Given the description of an element on the screen output the (x, y) to click on. 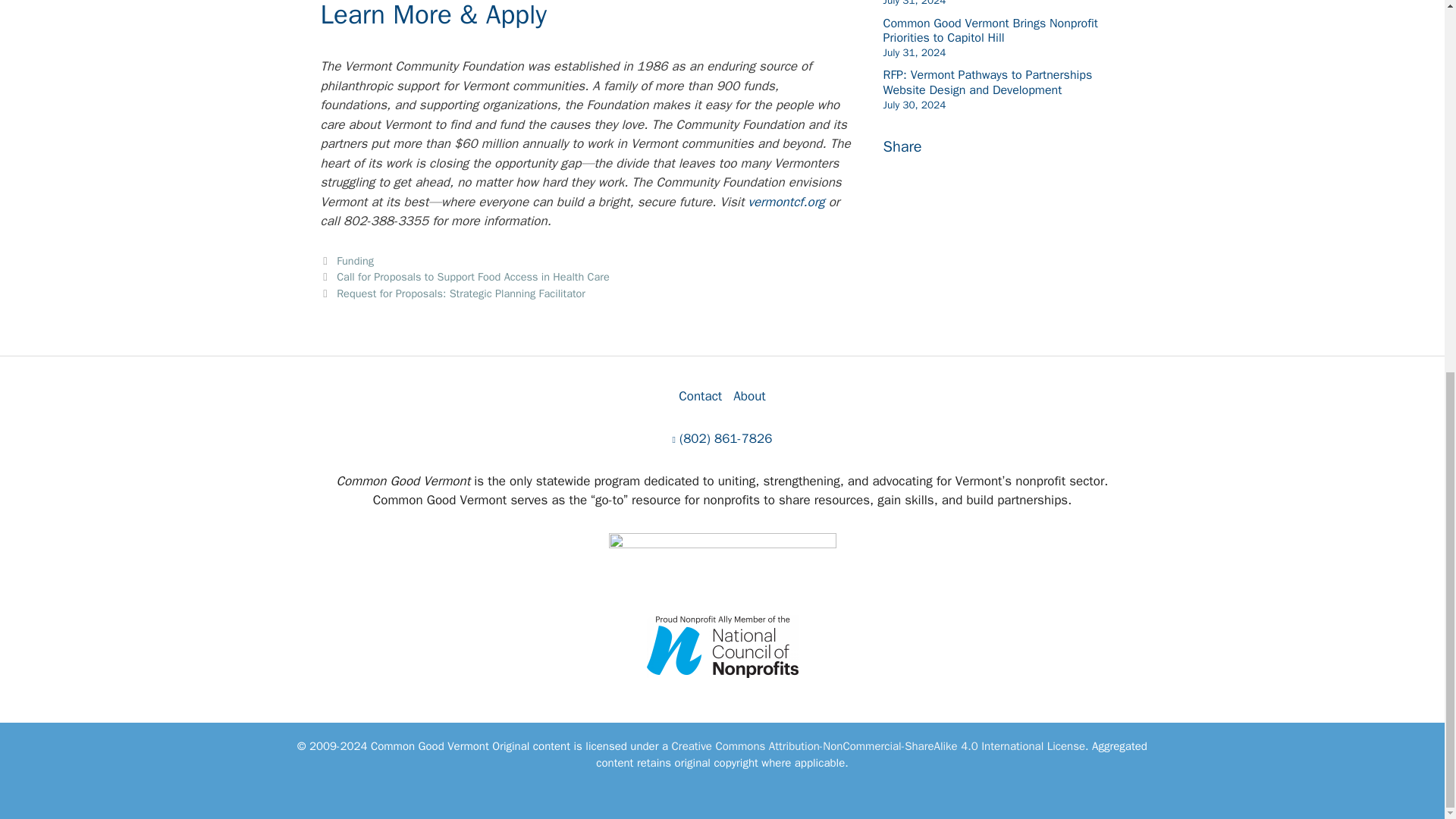
11:02 am (913, 104)
Previous (464, 276)
10:29 am (913, 3)
vermontcf.org (786, 201)
Next (452, 293)
9:24 am (913, 51)
